Given the description of an element on the screen output the (x, y) to click on. 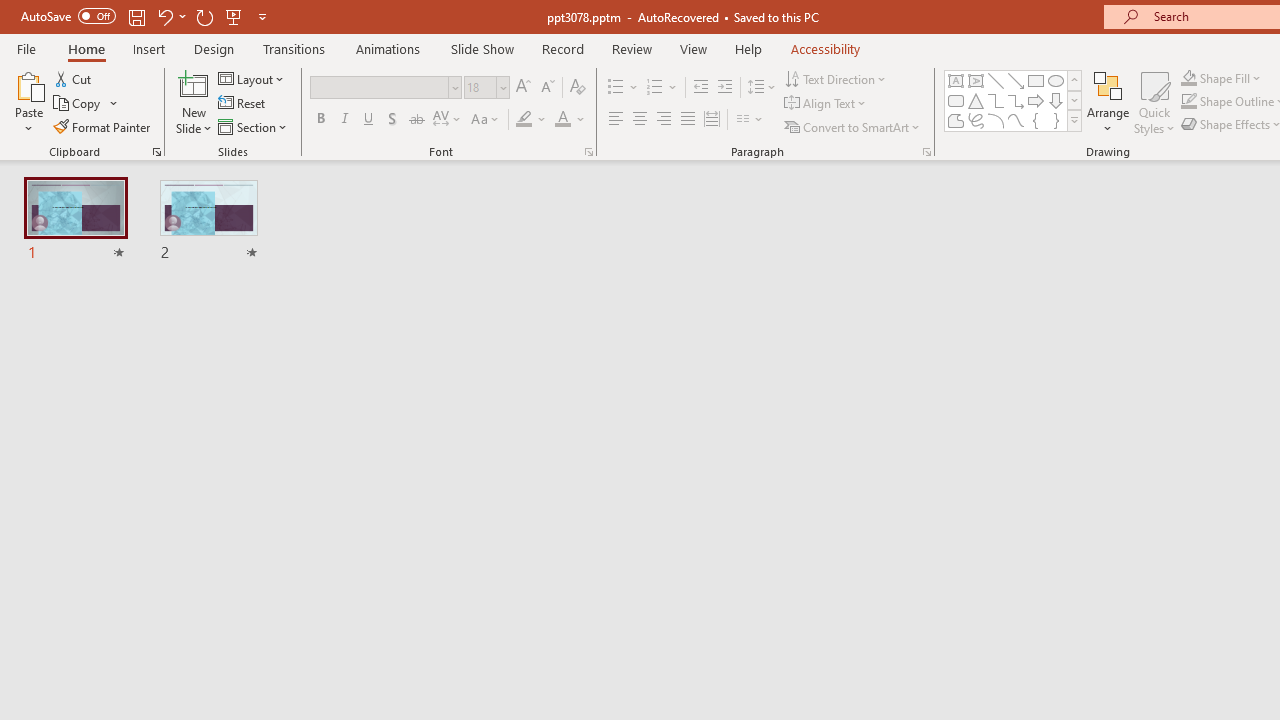
Shape Fill Dark Green, Accent 2 (1188, 78)
